Given the description of an element on the screen output the (x, y) to click on. 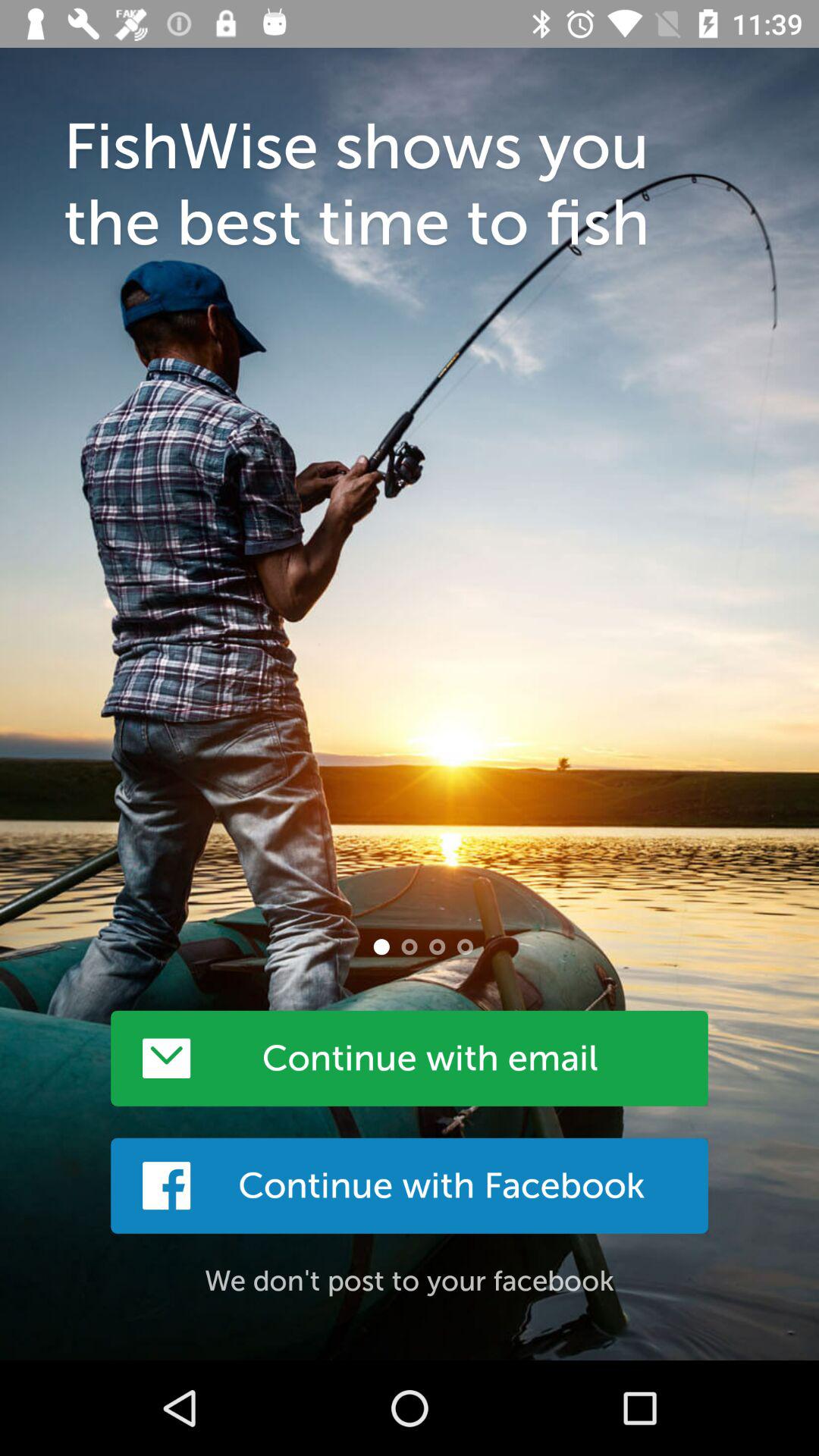
turn off icon above continue with email icon (381, 946)
